Given the description of an element on the screen output the (x, y) to click on. 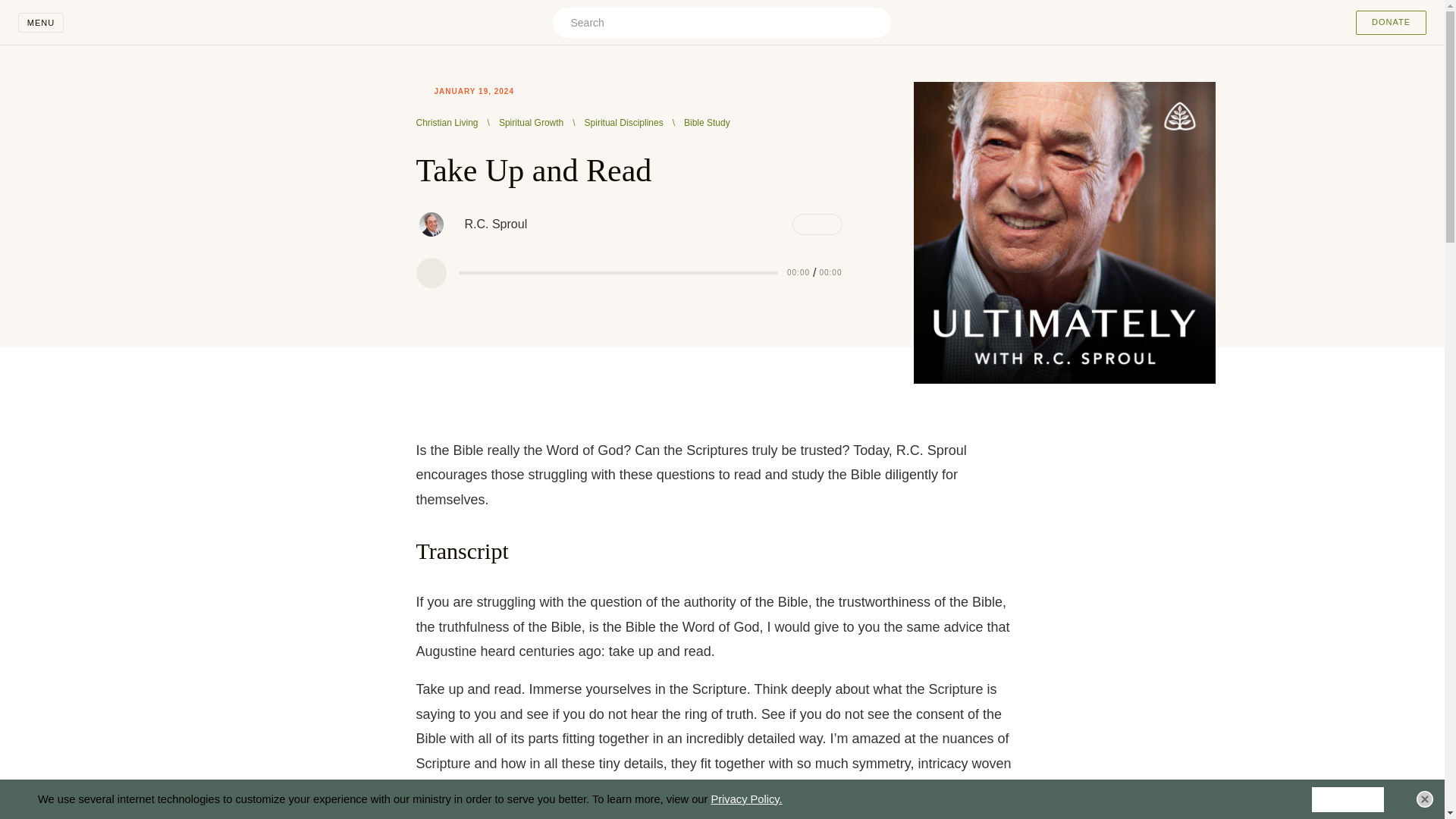
Accept (1348, 799)
Close (1424, 799)
Privacy Policy. (745, 799)
DONATE (1390, 22)
MENU (40, 22)
R.C. Sproul (429, 224)
Accept (1348, 799)
